Given the description of an element on the screen output the (x, y) to click on. 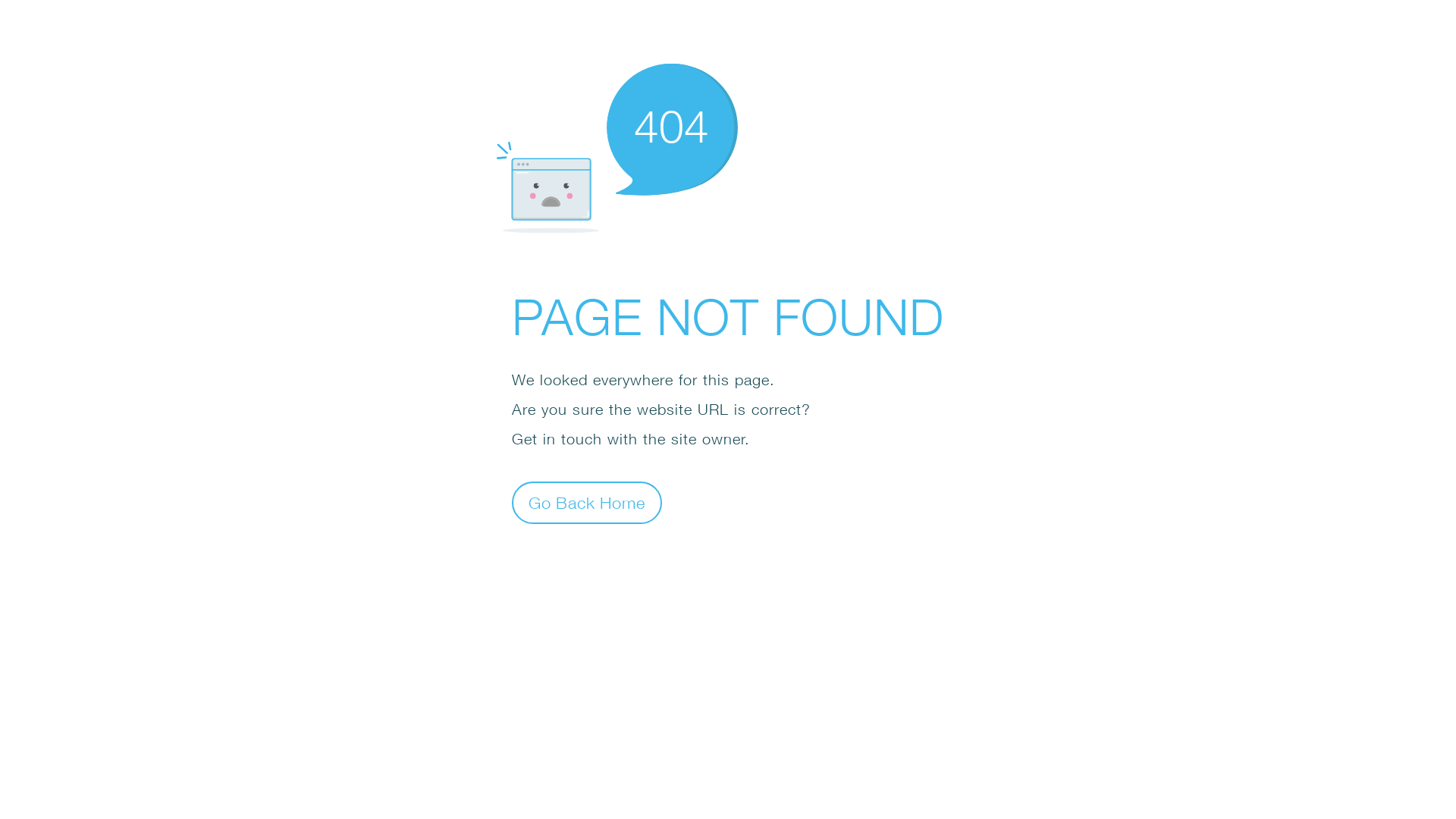
Go Back Home Element type: text (586, 502)
